Given the description of an element on the screen output the (x, y) to click on. 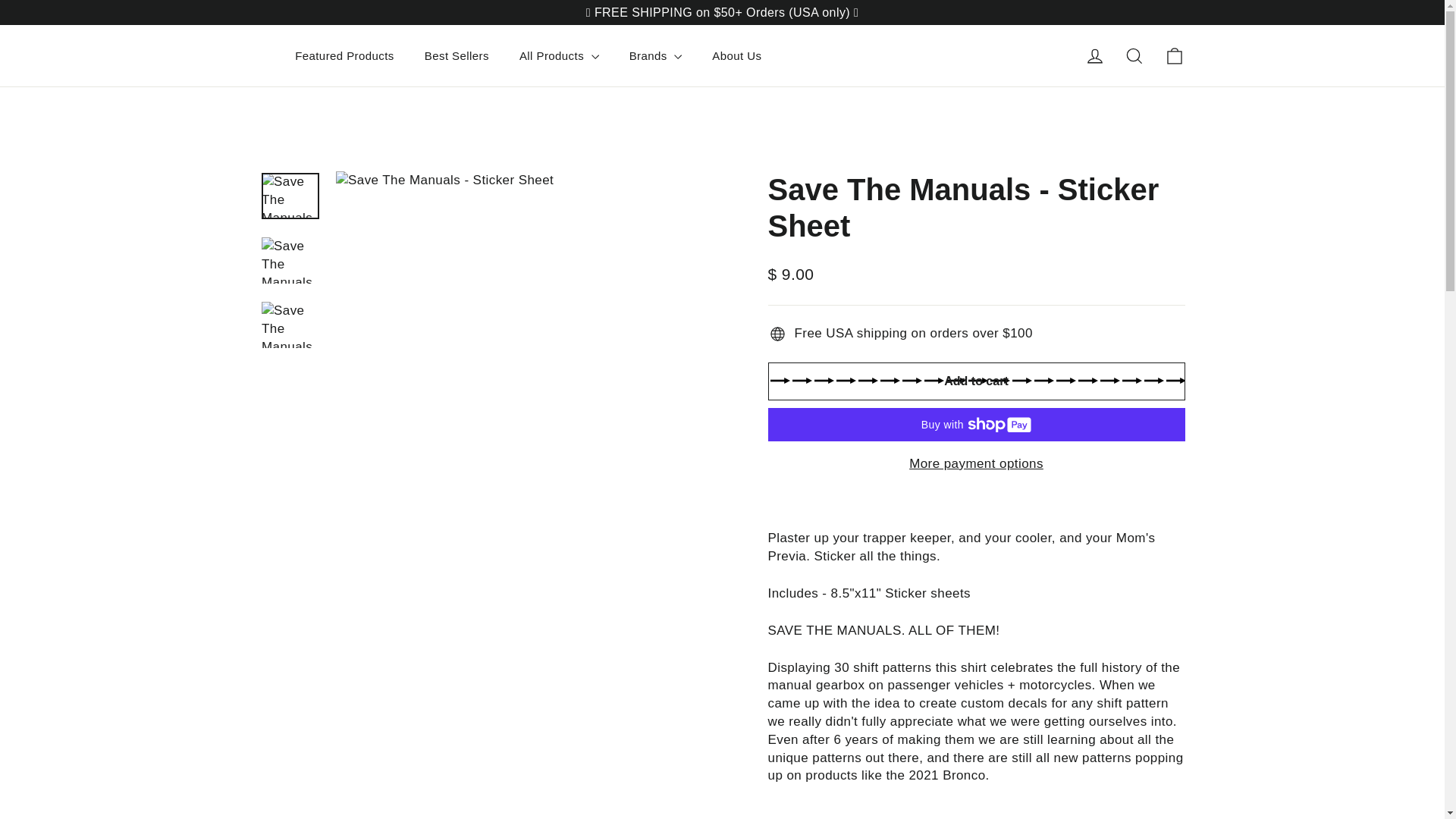
Featured Products (344, 55)
Best Sellers (456, 55)
All Products (558, 55)
